Given the description of an element on the screen output the (x, y) to click on. 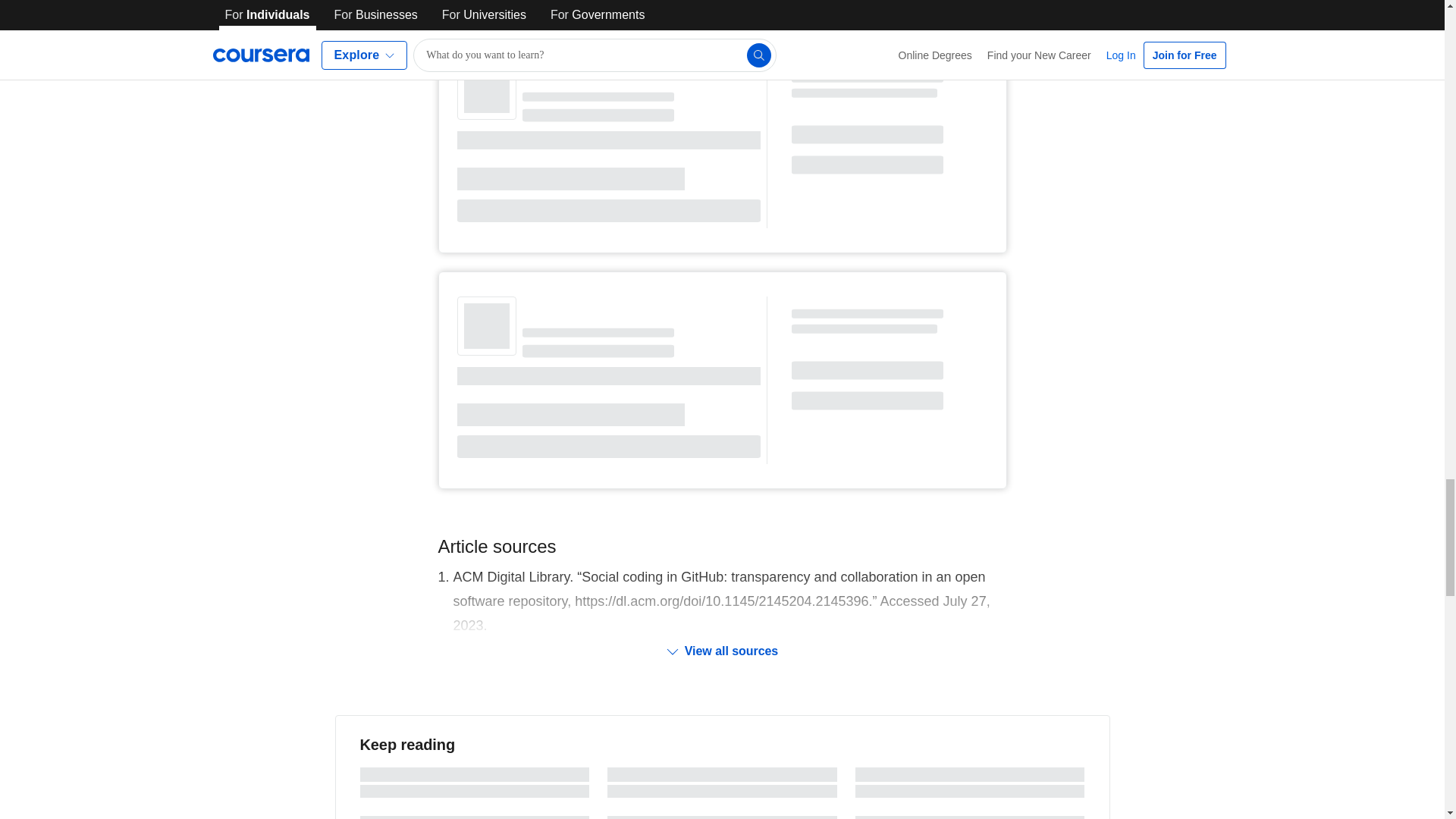
View all sources (722, 651)
Google IT Automation With Python Professional Certificate (706, 7)
